Given the description of an element on the screen output the (x, y) to click on. 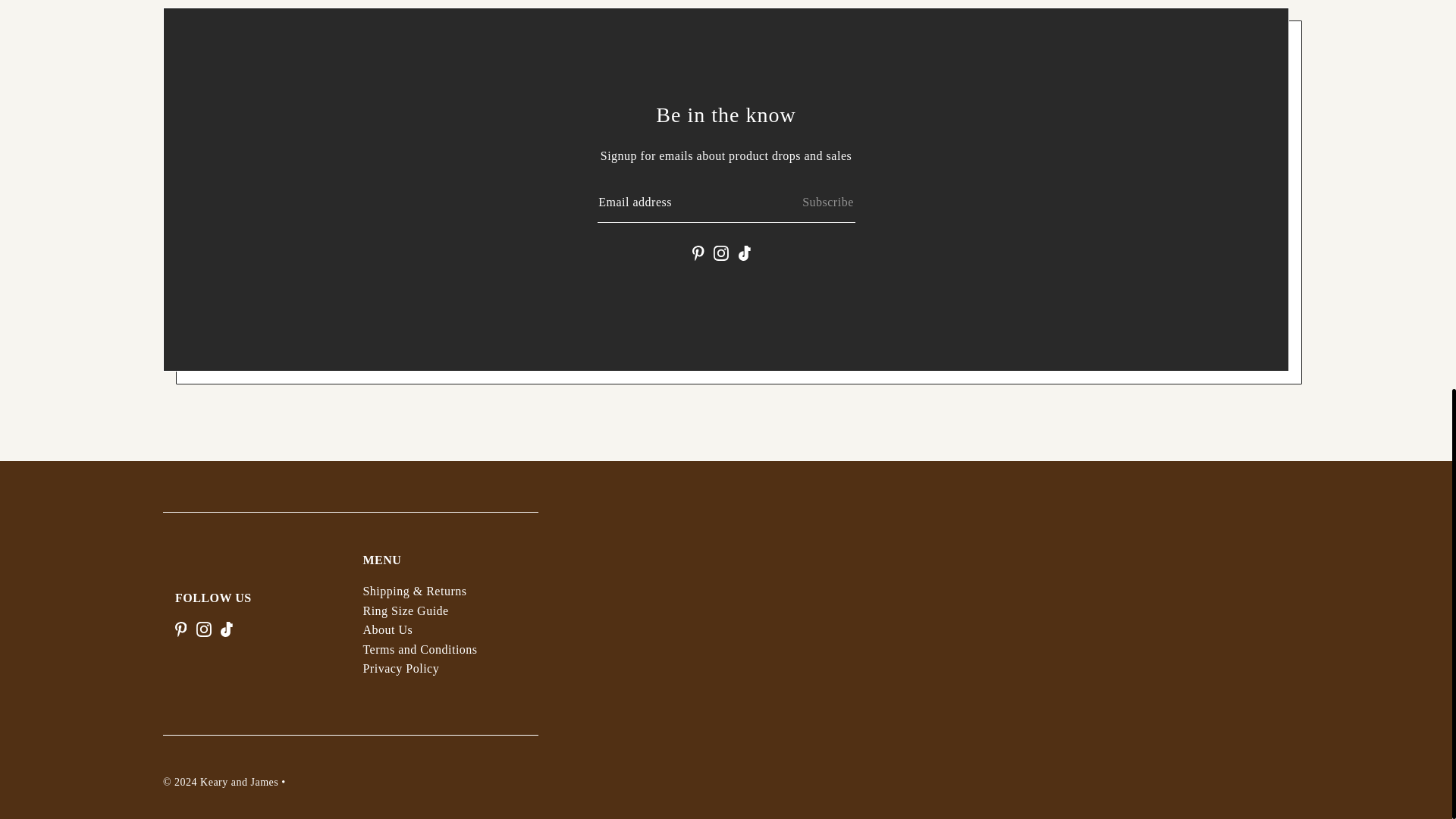
Pinterest (180, 628)
Tiktok (226, 628)
Pinterest (698, 252)
Instagram (721, 252)
Instagram (203, 628)
Tiktok (744, 252)
